Given the description of an element on the screen output the (x, y) to click on. 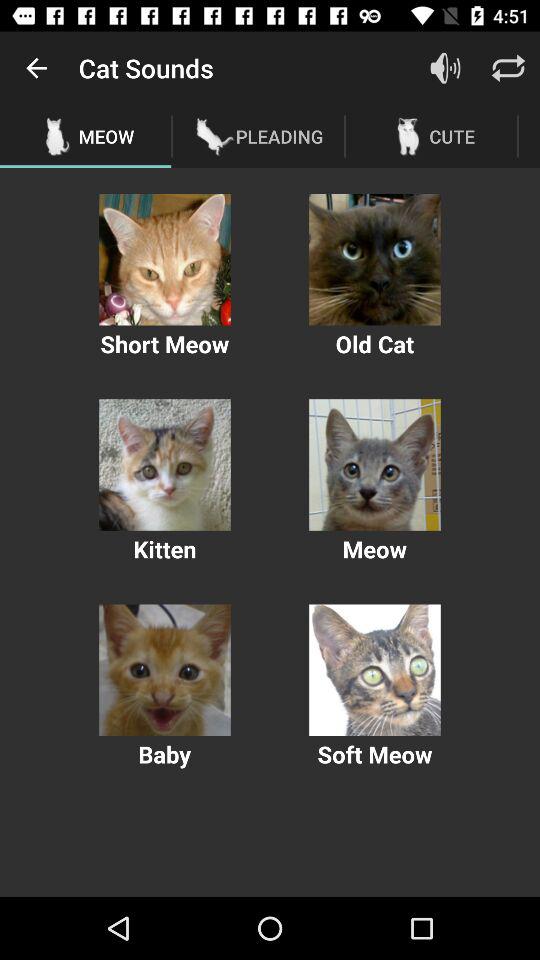
select short meow (164, 259)
